Given the description of an element on the screen output the (x, y) to click on. 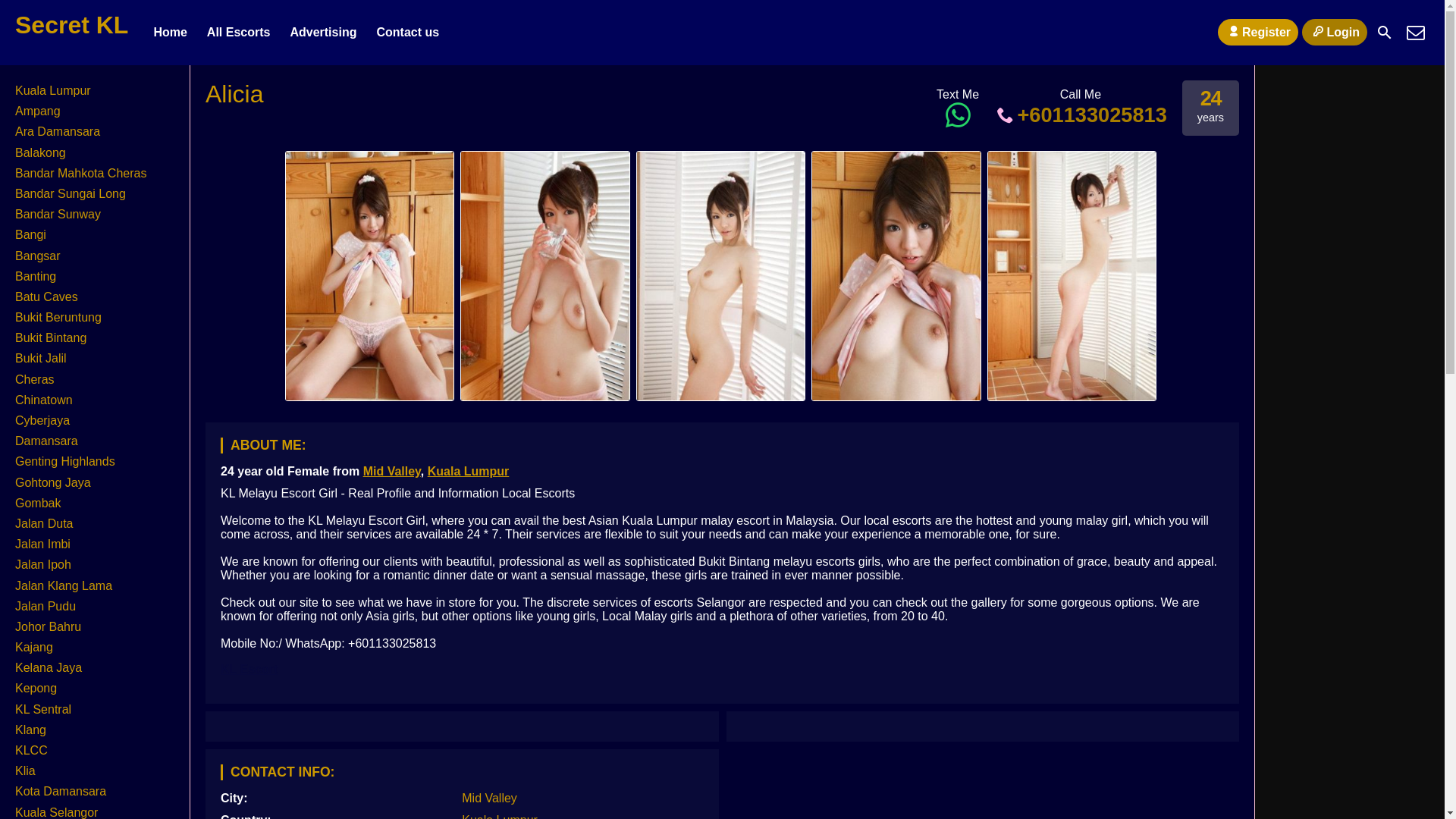
Kuala Lumpur (468, 471)
Mid Valley (488, 797)
Kuala Lumpur (499, 816)
Advertising (322, 33)
Search (1384, 31)
Kuala Lumpur (52, 90)
Ampang (37, 110)
Mid Valley (391, 471)
Mid Valley (391, 471)
Login (1334, 31)
Contact us (407, 33)
Secret KL (71, 24)
Balakong (39, 152)
Home (169, 33)
Kuala Lumpur (499, 816)
